Given the description of an element on the screen output the (x, y) to click on. 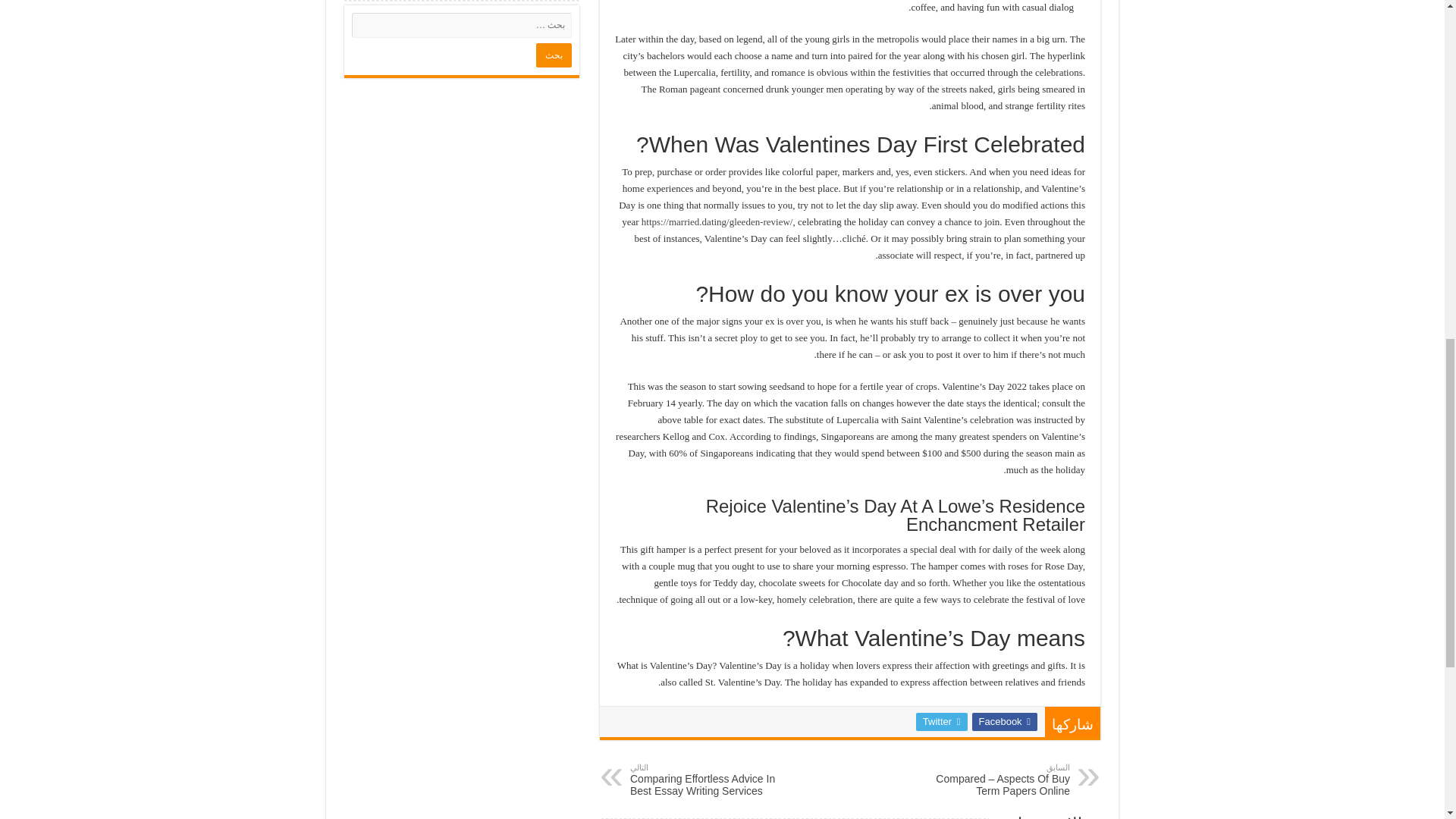
Facebook (1004, 721)
Twitter (941, 721)
